Given the description of an element on the screen output the (x, y) to click on. 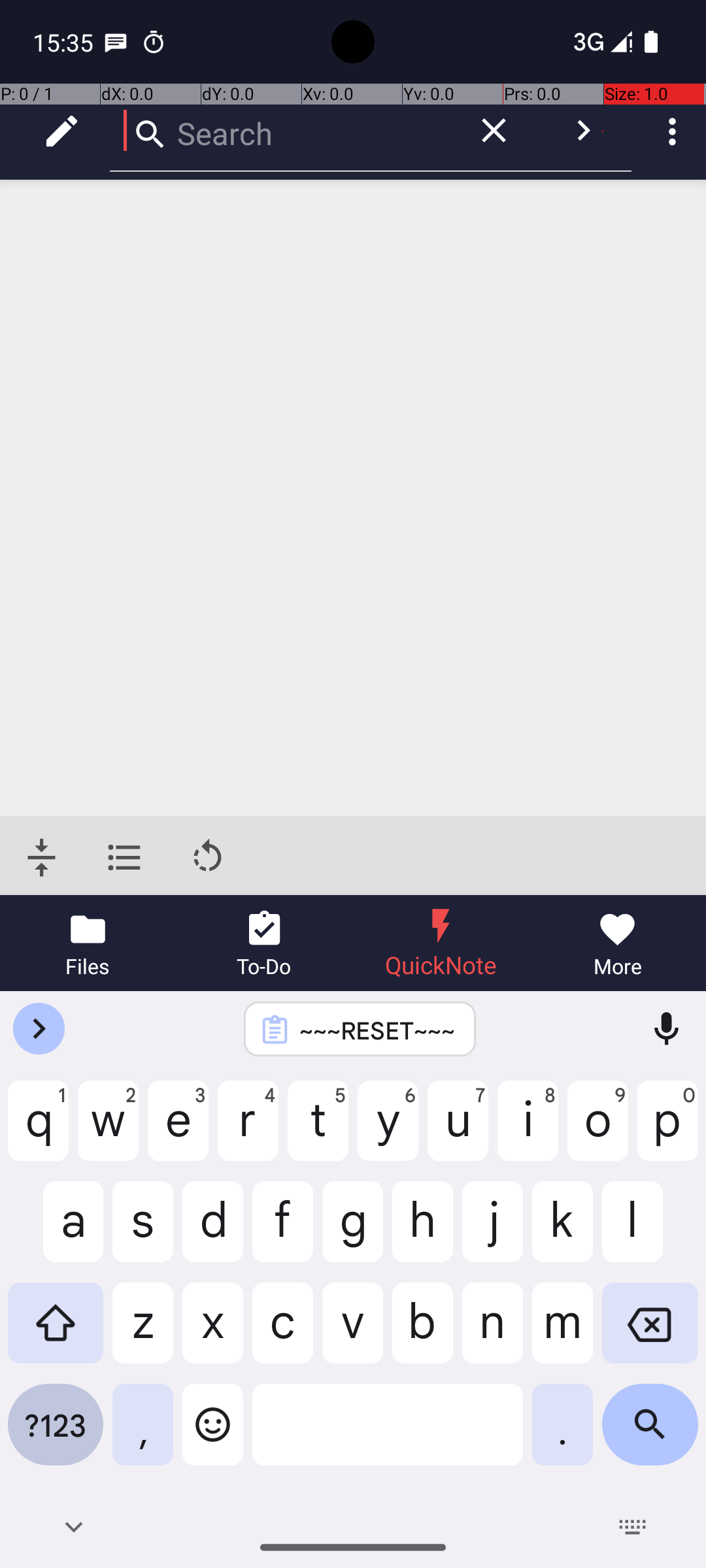
   Search Element type: android.widget.AutoCompleteTextView (280, 130)
Submit query Element type: android.widget.ImageView (583, 130)
